Given the description of an element on the screen output the (x, y) to click on. 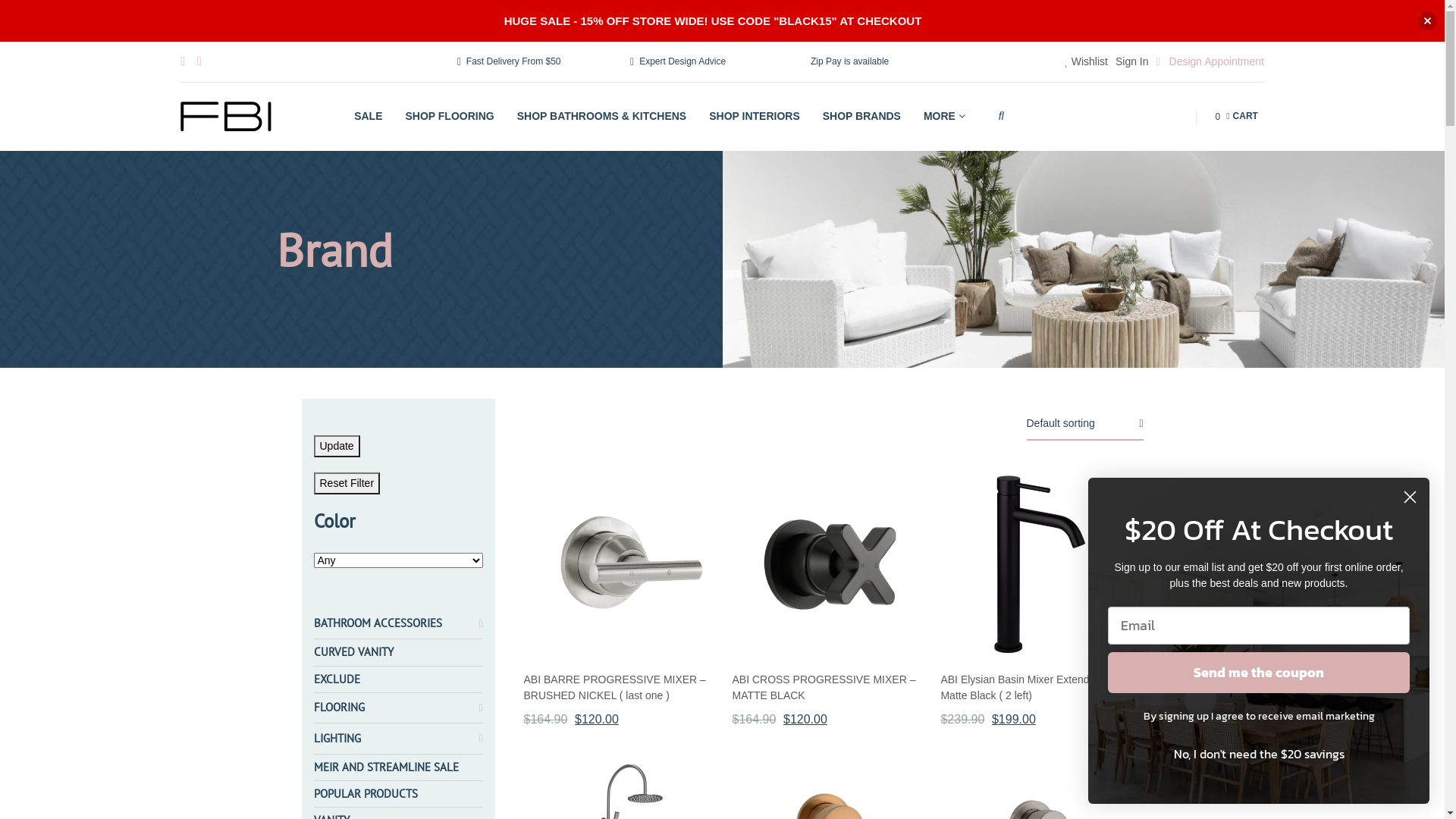
POPULAR PRODUCTS Element type: text (365, 793)
SALE Element type: text (368, 116)
0
CART Element type: text (1235, 116)
SHOP FLOORING Element type: text (449, 116)
FLOORING Element type: text (338, 707)
SHOP INTERIORS Element type: text (754, 116)
No, I don't need the $20 savings Element type: text (1258, 752)
Submit Element type: text (25, 9)
Wishlist Element type: text (1085, 61)
SHOP BATHROOMS & KITCHENS Element type: text (601, 116)
CURVED VANITY Element type: text (353, 651)
Design Appointment Element type: text (1210, 61)
Fast Delivery From $50 Element type: text (508, 61)
Reset Filter Element type: text (346, 483)
Send me the coupon Element type: text (1258, 672)
EXCLUDE Element type: text (336, 679)
BATHROOM ACCESSORIES Element type: text (377, 623)
SHOP BRANDS Element type: text (861, 116)
Update Element type: text (336, 446)
MORE Element type: text (943, 116)
LIGHTING Element type: text (336, 738)
Expert Design Advice Element type: text (677, 61)
Sign In Element type: text (1131, 61)
Zip Pay is available Element type: text (846, 61)
Flooring Bathrooms Interiors Element type: hover (225, 116)
MEIR AND STREAMLINE SALE Element type: text (385, 767)
